Given the description of an element on the screen output the (x, y) to click on. 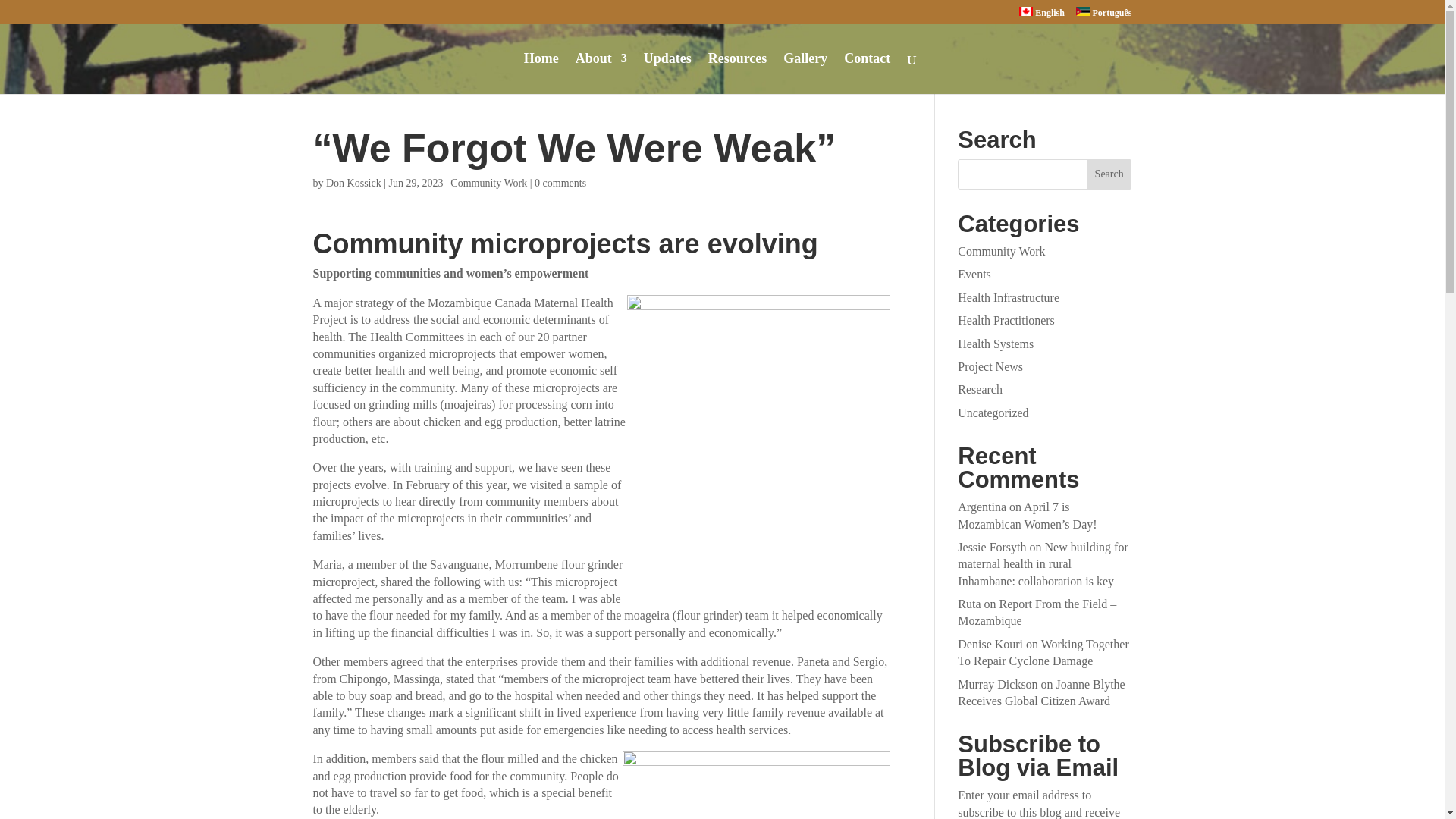
English (1041, 15)
Community Work (1001, 250)
Search (1109, 173)
Posts by Don Kossick (353, 183)
Working Together To Repair Cyclone Damage (1043, 652)
Joanne Blythe Receives Global Citizen Award (1041, 692)
Project News (990, 366)
About (601, 73)
Health Practitioners (1006, 319)
Search (1109, 173)
